Given the description of an element on the screen output the (x, y) to click on. 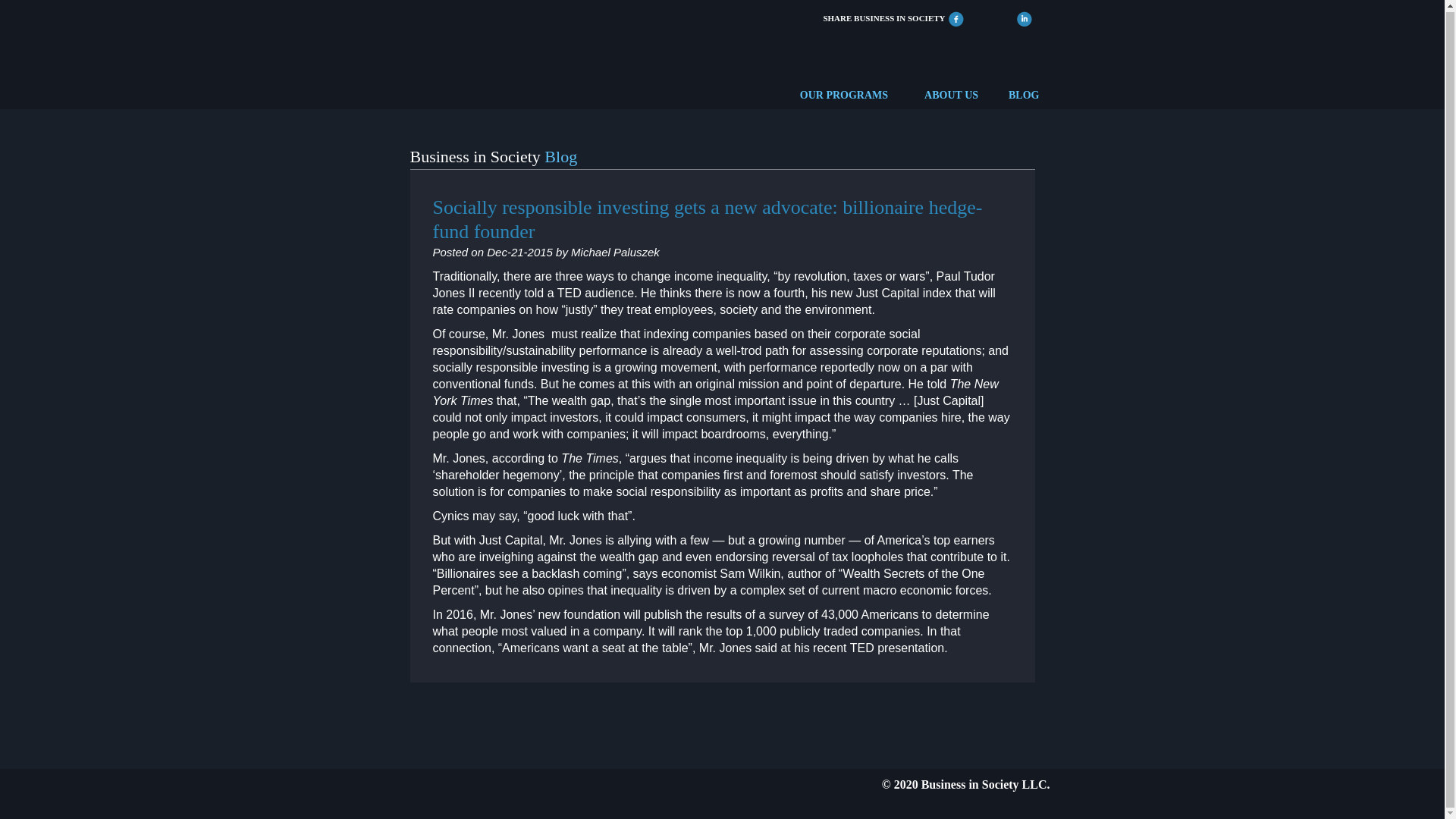
Share On Twitter (989, 16)
OUR PROGRAMS (843, 95)
Facebook (956, 16)
BLOG (1024, 95)
Share On LinkedIn (1023, 16)
ABOUT US (951, 95)
Business In Society Home (453, 51)
